Given the description of an element on the screen output the (x, y) to click on. 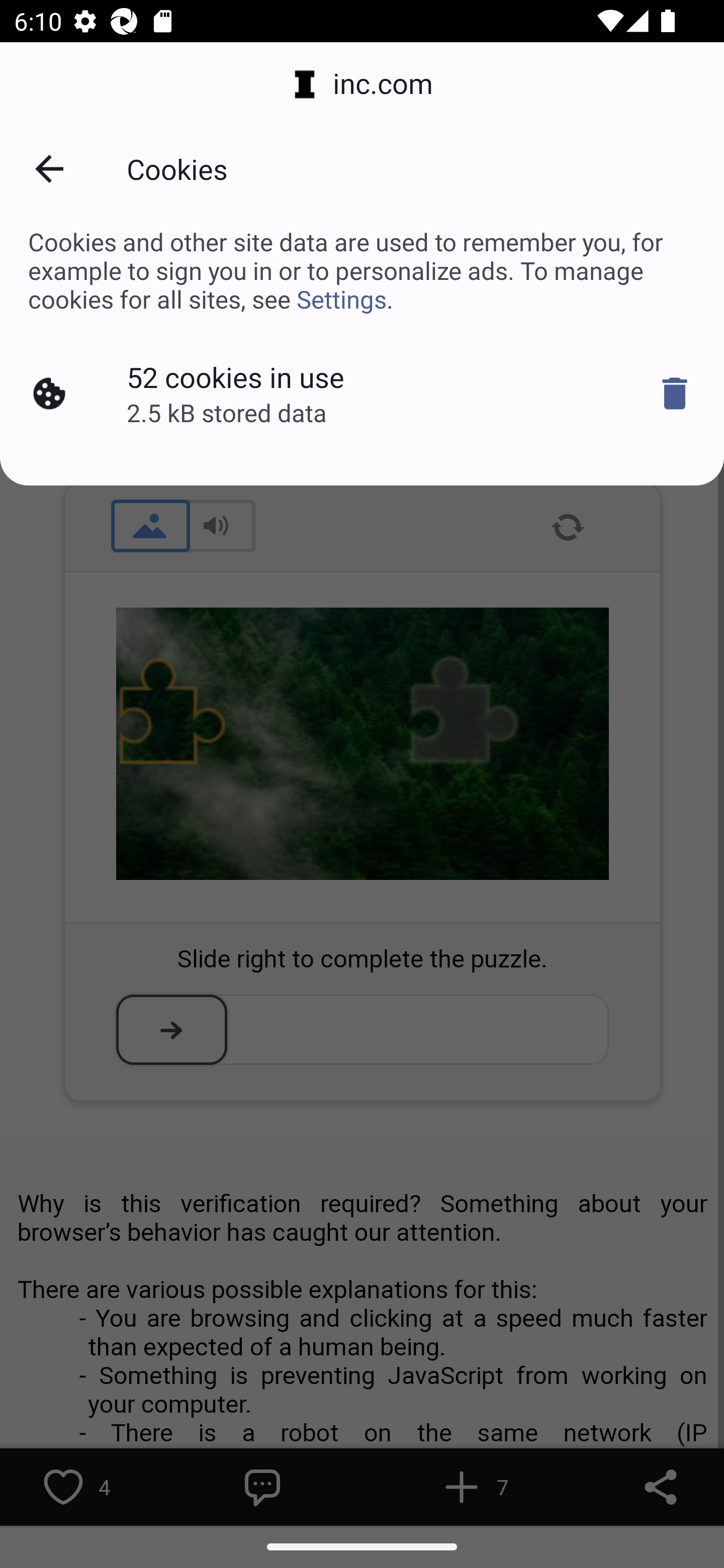
inc.com (362, 84)
Back (49, 169)
